Given the description of an element on the screen output the (x, y) to click on. 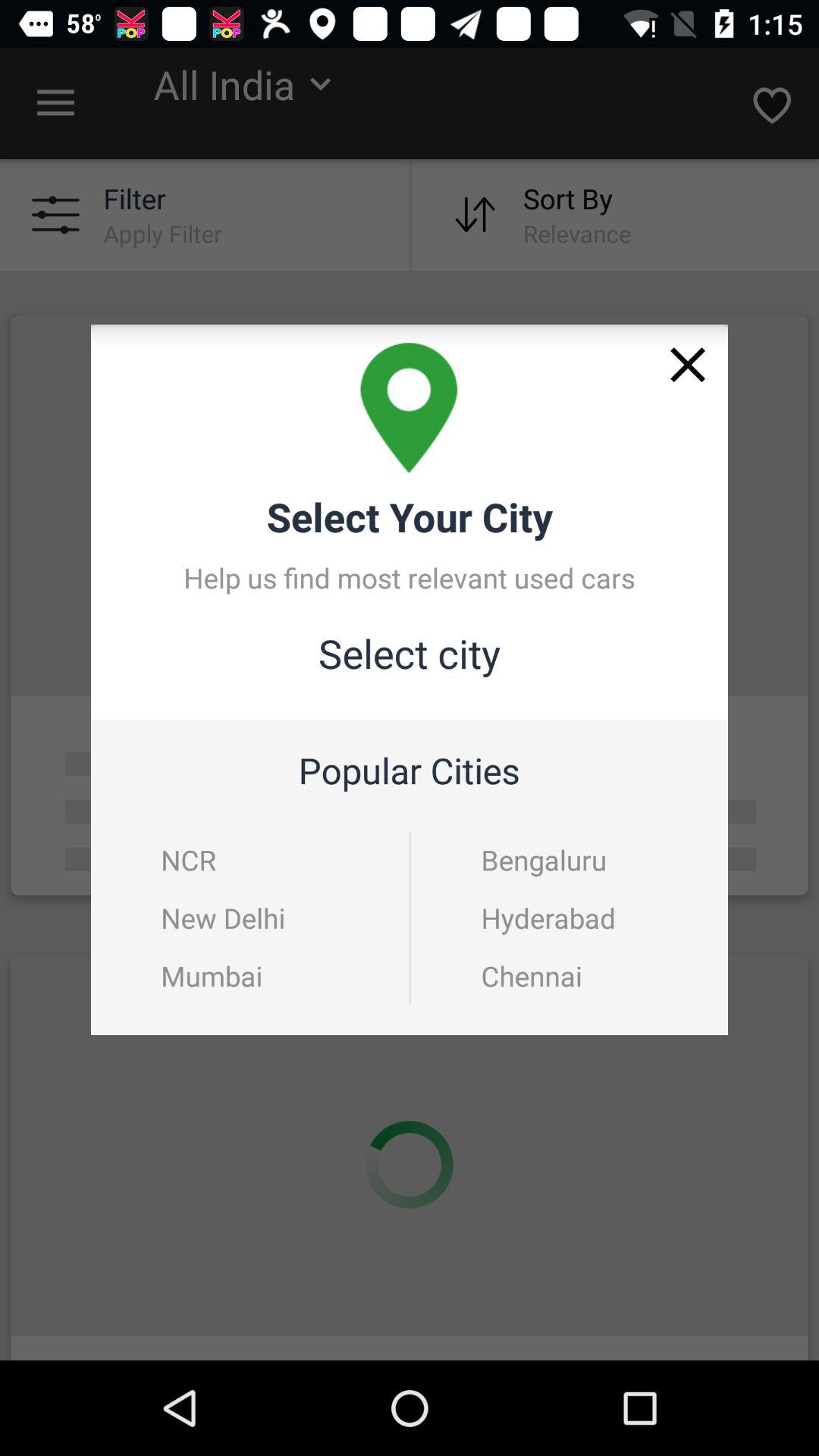
click the mumbai icon (211, 975)
